Given the description of an element on the screen output the (x, y) to click on. 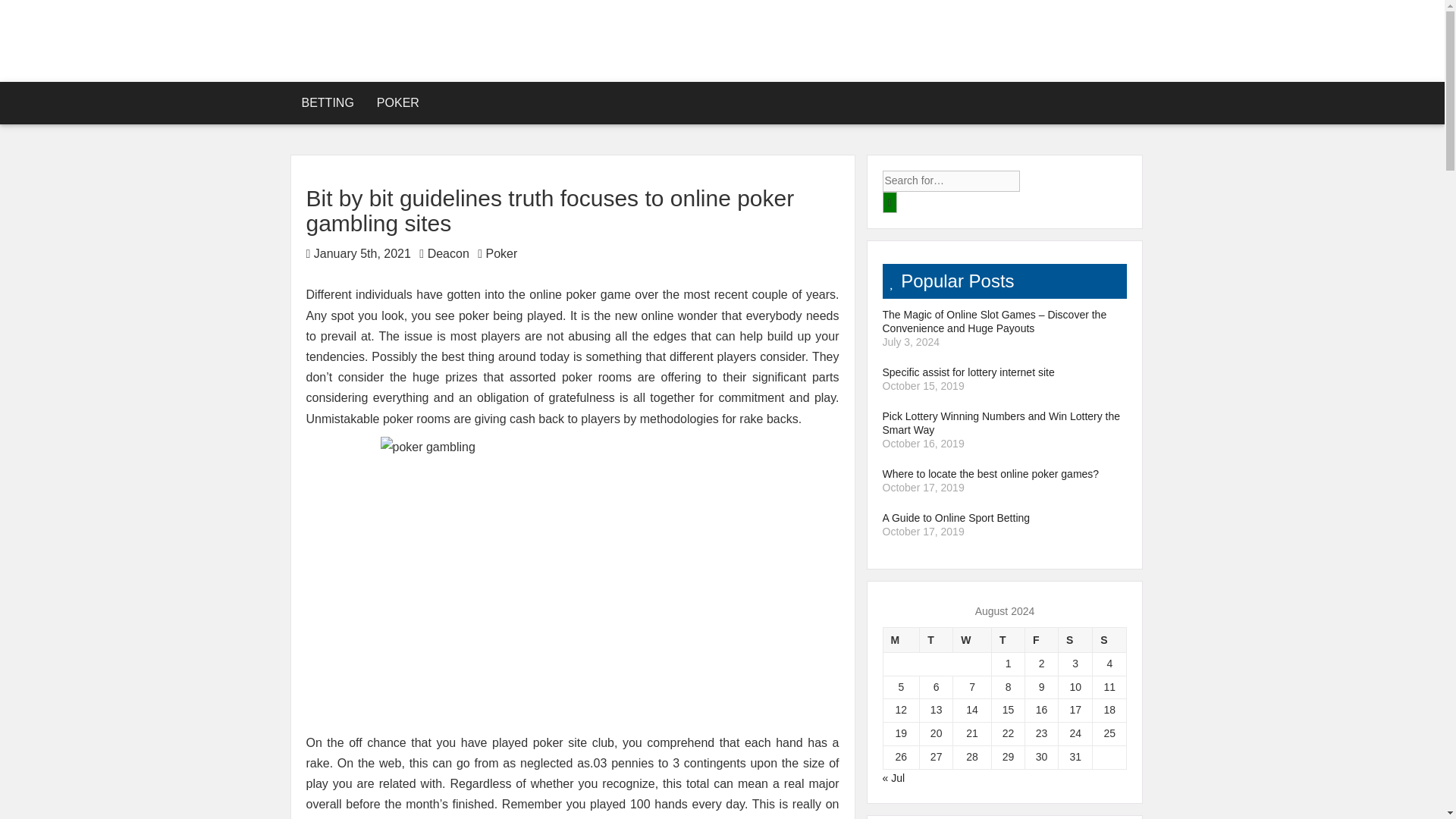
Saturday (1075, 639)
Tuesday (936, 639)
Friday (1041, 639)
Deacon (448, 253)
POKER (397, 102)
Monday (901, 639)
Wednesday (972, 639)
Specific assist for lottery internet site (1004, 372)
Where to locate the best online poker games? (1004, 473)
A Guide to Online Sport Betting (1004, 517)
